Given the description of an element on the screen output the (x, y) to click on. 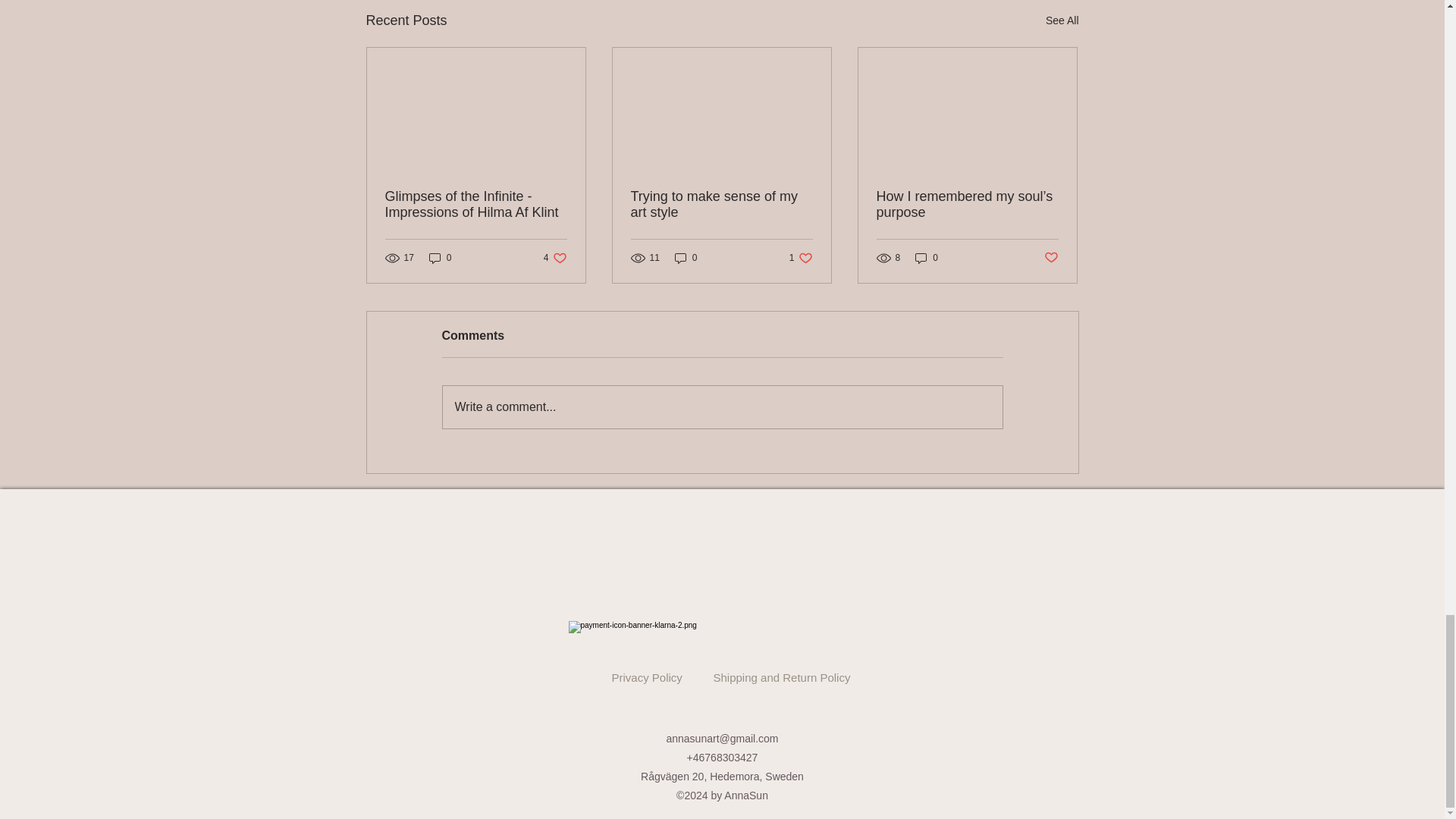
0 (555, 257)
See All (800, 257)
0 (685, 257)
Trying to make sense of my art style (1061, 20)
Glimpses of the Infinite - Impressions of Hilma Af Klint (440, 257)
